Given the description of an element on the screen output the (x, y) to click on. 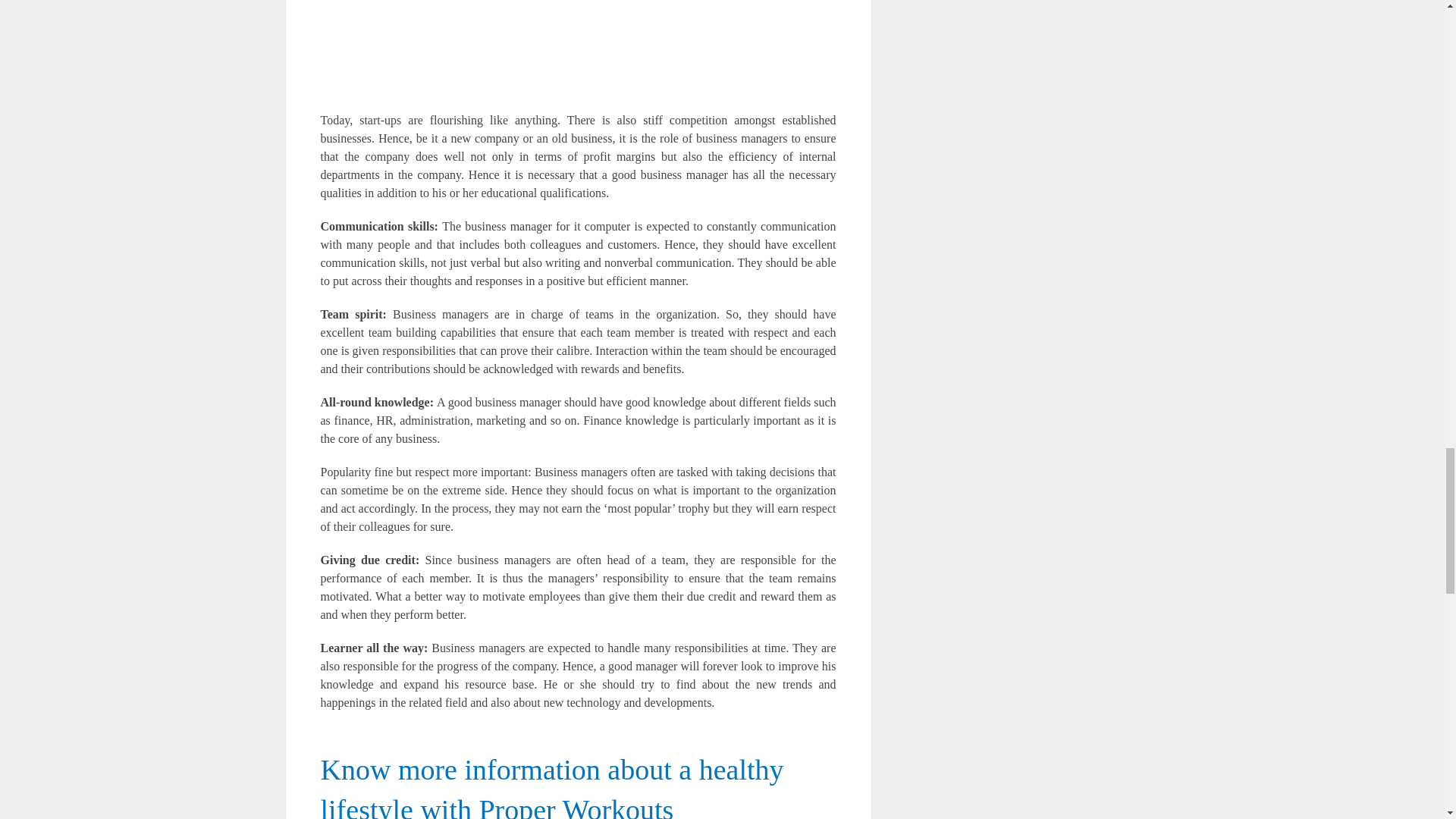
The qualities of a good business manager (577, 48)
